Given the description of an element on the screen output the (x, y) to click on. 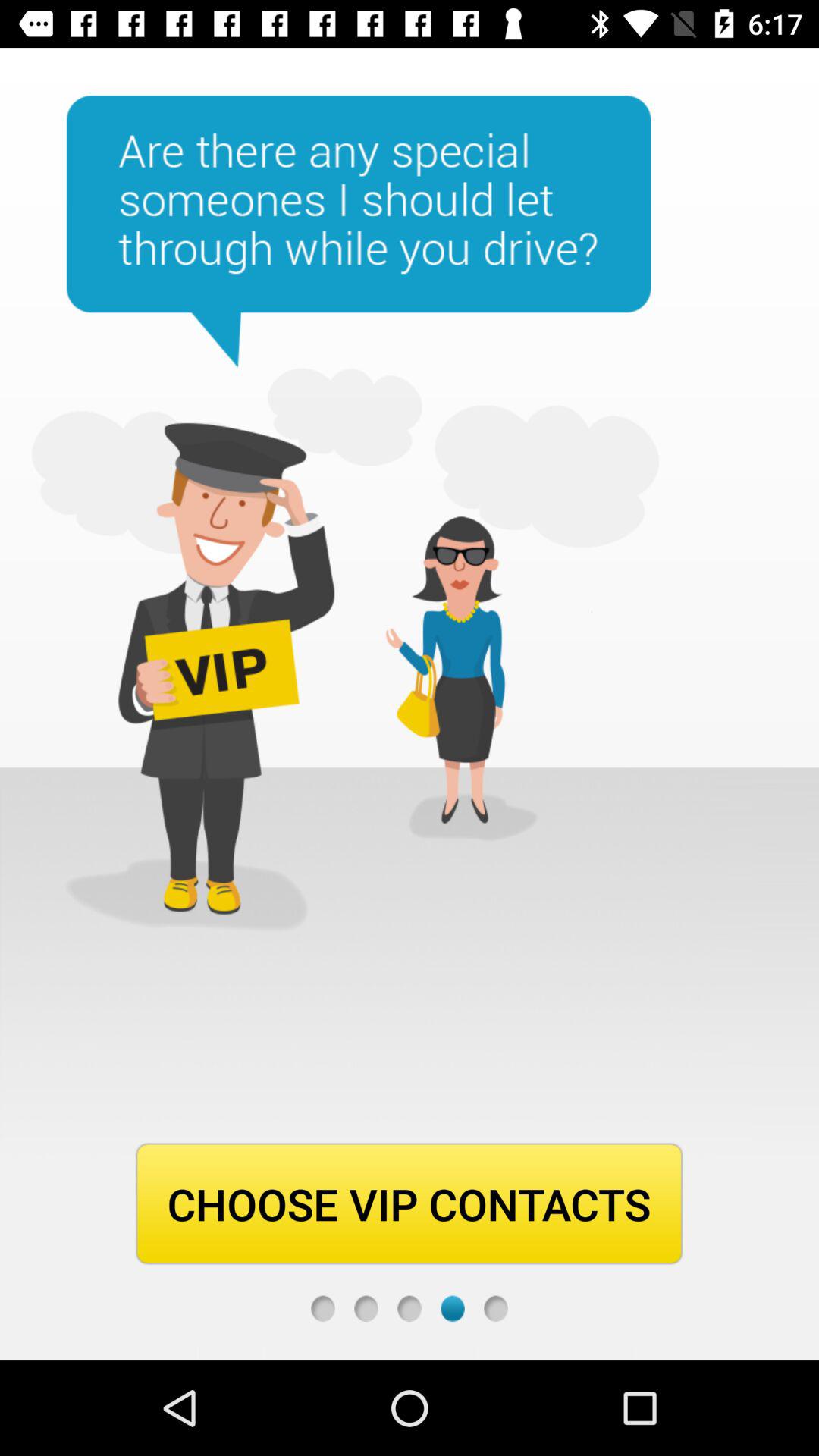
toggle pictures (452, 1308)
